Given the description of an element on the screen output the (x, y) to click on. 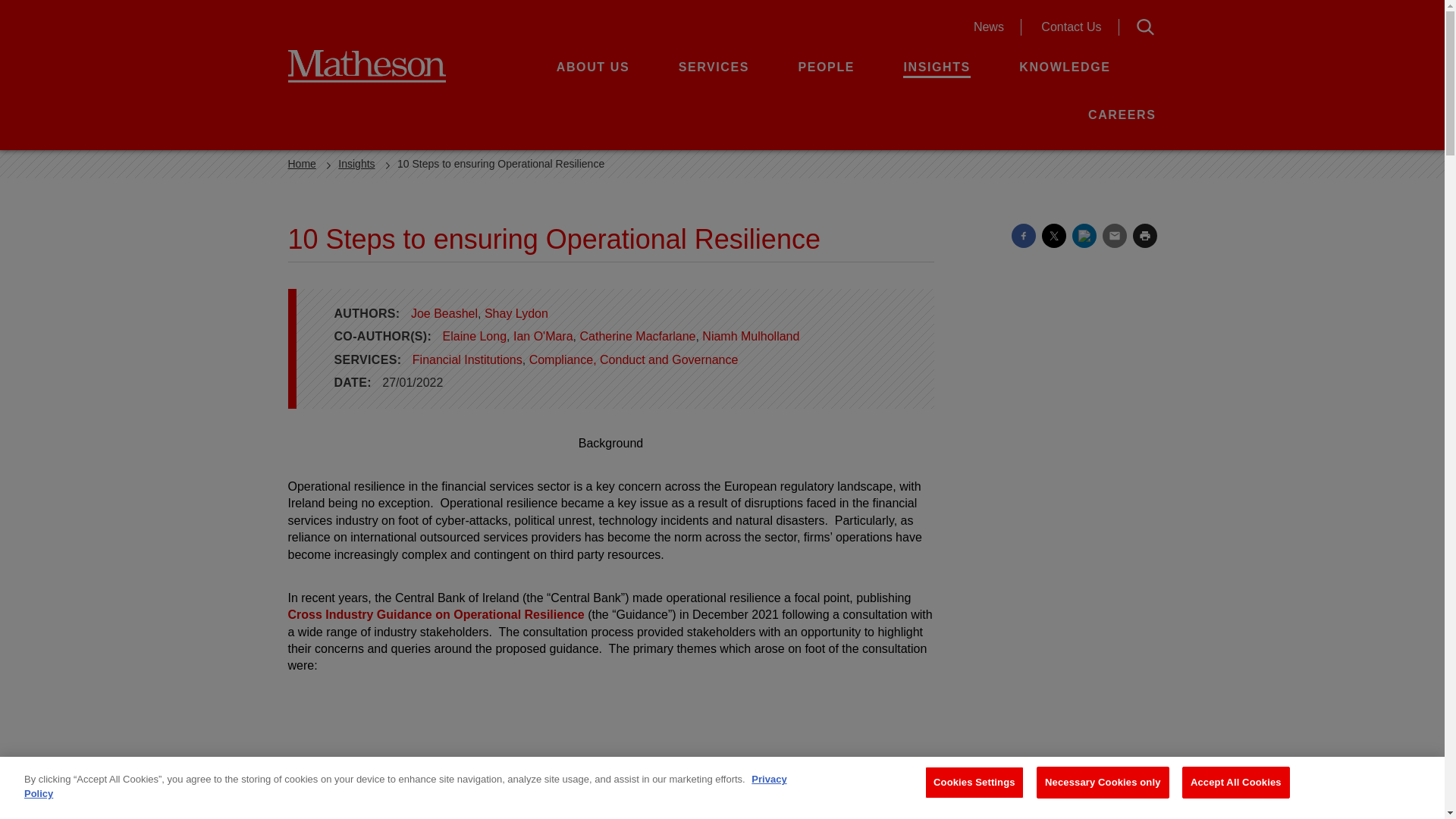
Home (301, 163)
ABOUT US (592, 66)
Cross Industry Guidance on Operational Resilience (436, 614)
Catherine Macfarlane (637, 336)
KNOWLEDGE (1064, 66)
Contact Us (1070, 26)
Search input (990, 27)
Niamh Mulholland (750, 336)
PEOPLE (826, 66)
Compliance, Conduct and Governance (633, 359)
Insights (355, 163)
Matheson Logo (387, 65)
Joe Beashel (443, 313)
SERVICES (713, 66)
CAREERS (1121, 114)
